Given the description of an element on the screen output the (x, y) to click on. 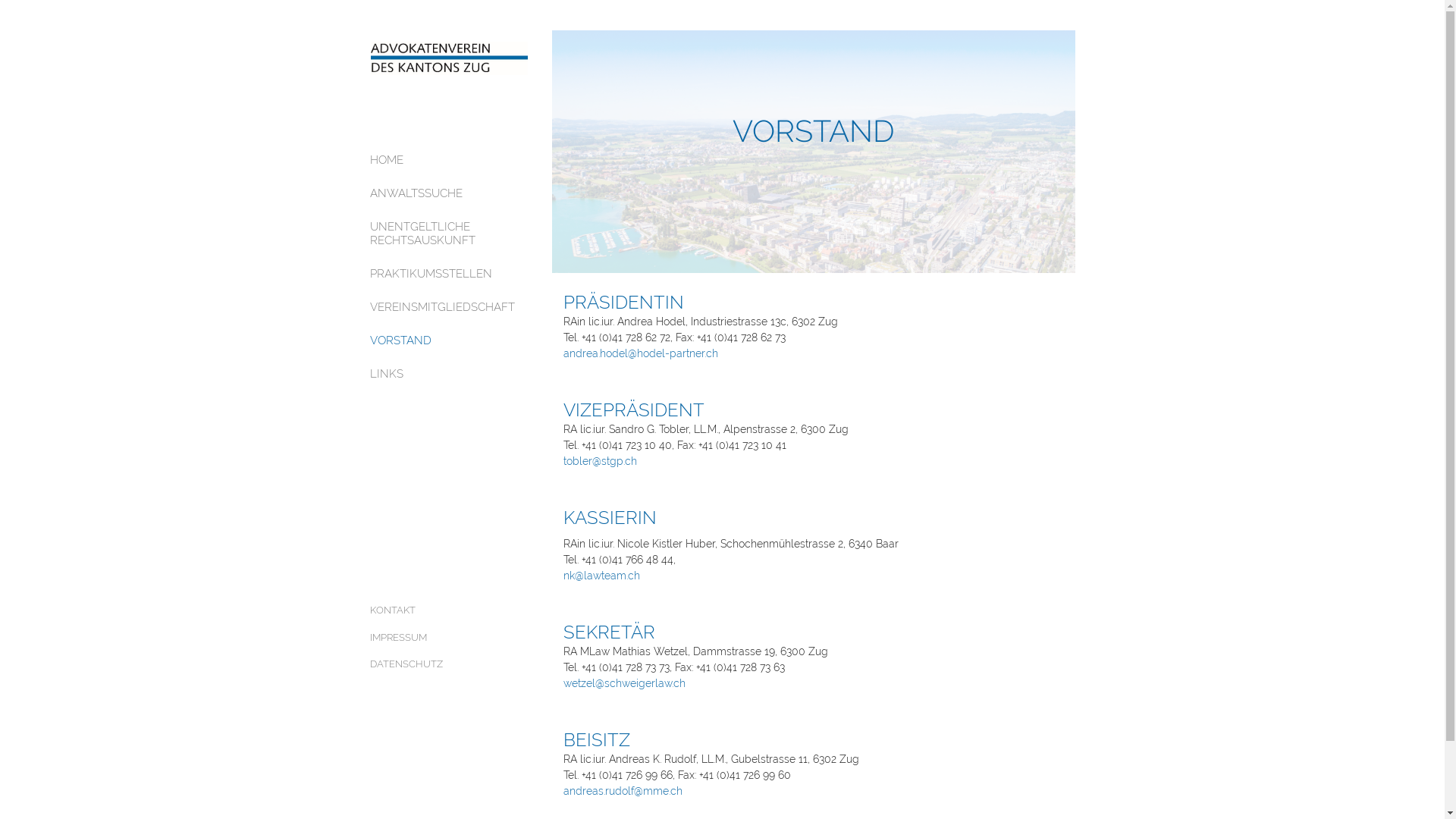
VEREINSMITGLIEDSCHAFT Element type: text (449, 306)
HOME Element type: text (449, 159)
VORSTAND Element type: text (449, 340)
UNENTGELTLICHE RECHTSAUSKUNFT Element type: text (449, 233)
andreas.rudolf@mme.ch Element type: text (621, 790)
KONTAKT Element type: text (449, 610)
nk@lawteam.ch Element type: text (600, 575)
IMPRESSUM Element type: text (449, 637)
andrea.hodel@hodel-partner.ch Element type: text (639, 353)
DATENSCHUTZ Element type: text (449, 663)
wetzel@schweigerlaw.ch Element type: text (623, 683)
LINKS Element type: text (449, 373)
ANWALTSSUCHE Element type: text (449, 193)
tobler@stgp.ch Element type: text (599, 461)
PRAKTIKUMSSTELLEN Element type: text (449, 273)
